Given the description of an element on the screen output the (x, y) to click on. 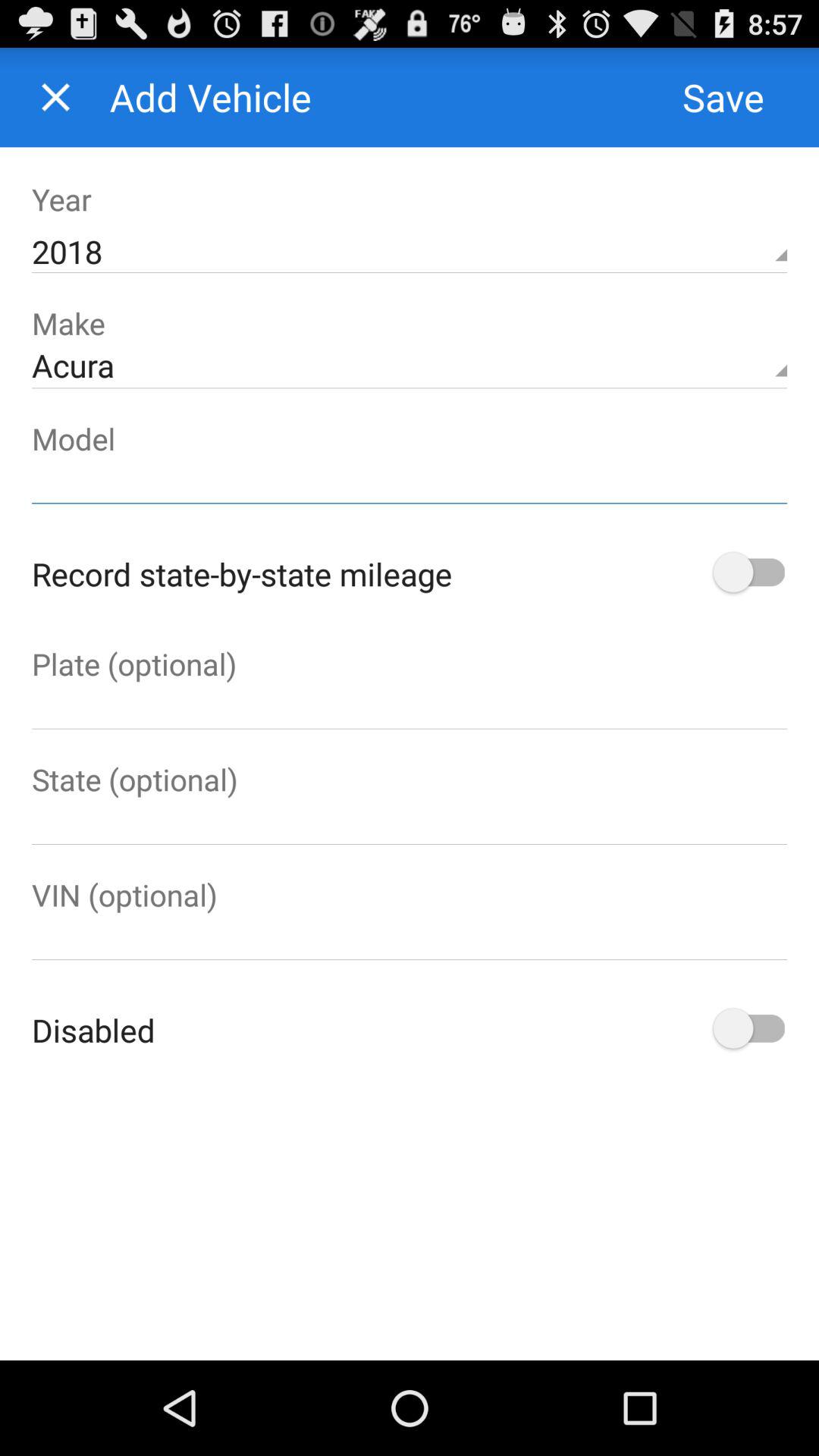
close window (55, 97)
